Given the description of an element on the screen output the (x, y) to click on. 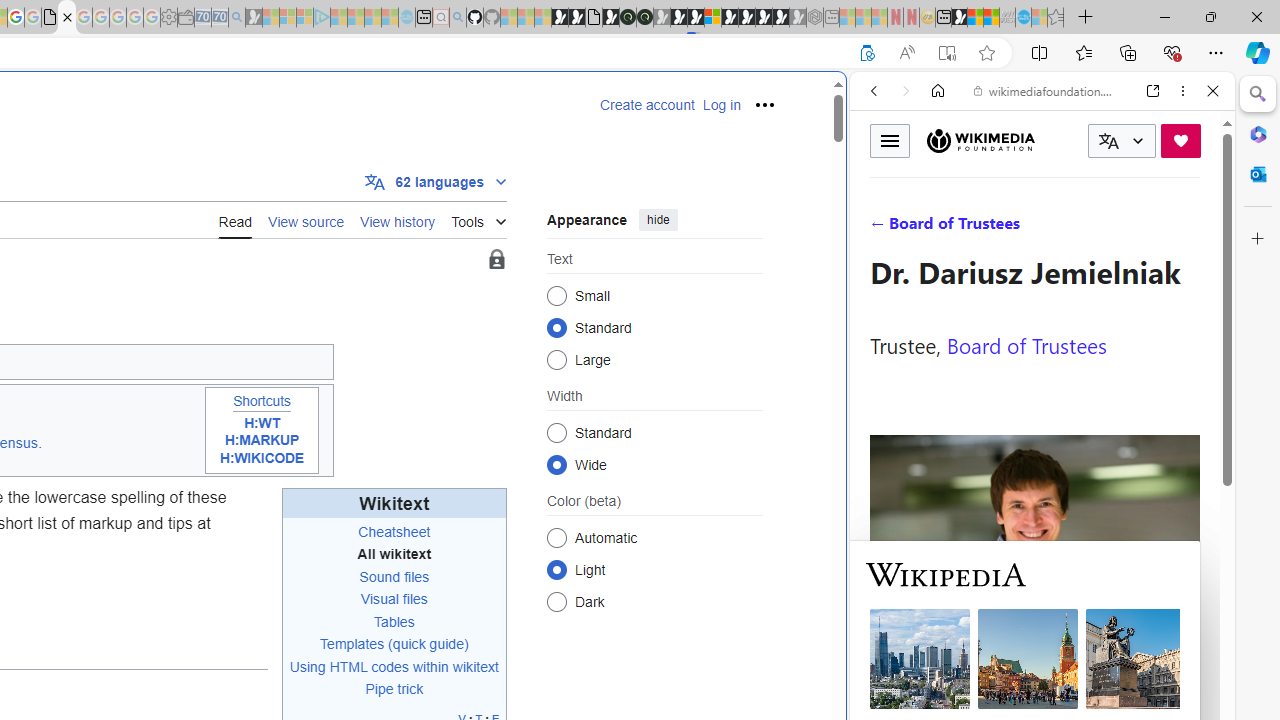
Open link in new tab (1153, 91)
Automatic (556, 537)
IMAGES (939, 228)
Log in (721, 105)
Cheatsheet (394, 531)
H:MARKUP (261, 440)
This site scope (936, 180)
